Given the description of an element on the screen output the (x, y) to click on. 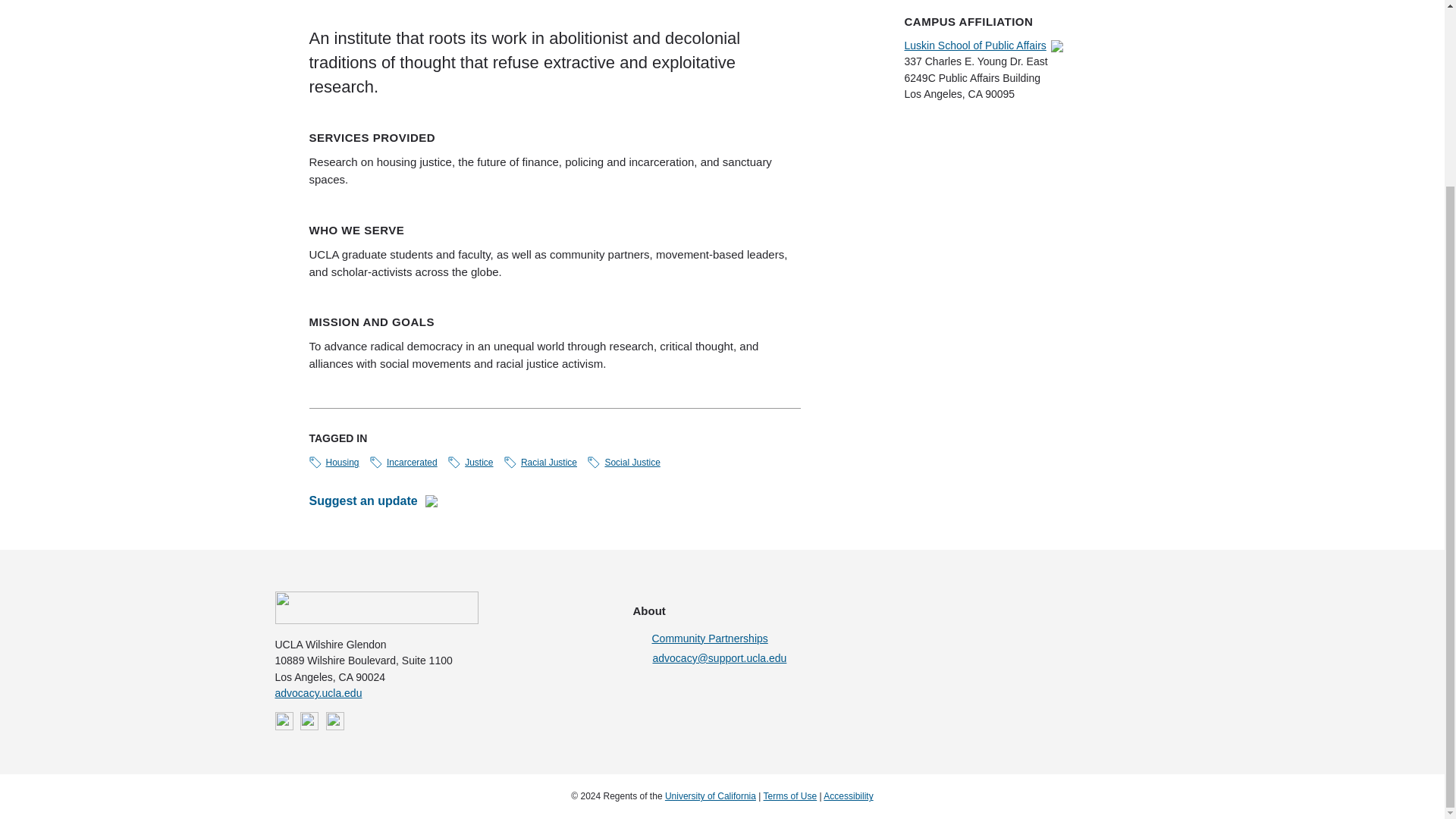
Racial Justice (539, 462)
Accessibility (848, 796)
Community Partnerships (810, 638)
Social Justice (623, 462)
Justice (470, 462)
Housing (333, 462)
Suggest an update (373, 500)
Terms of Use (789, 796)
Incarcerated (403, 462)
Luskin School of Public Affairs (985, 45)
